Given the description of an element on the screen output the (x, y) to click on. 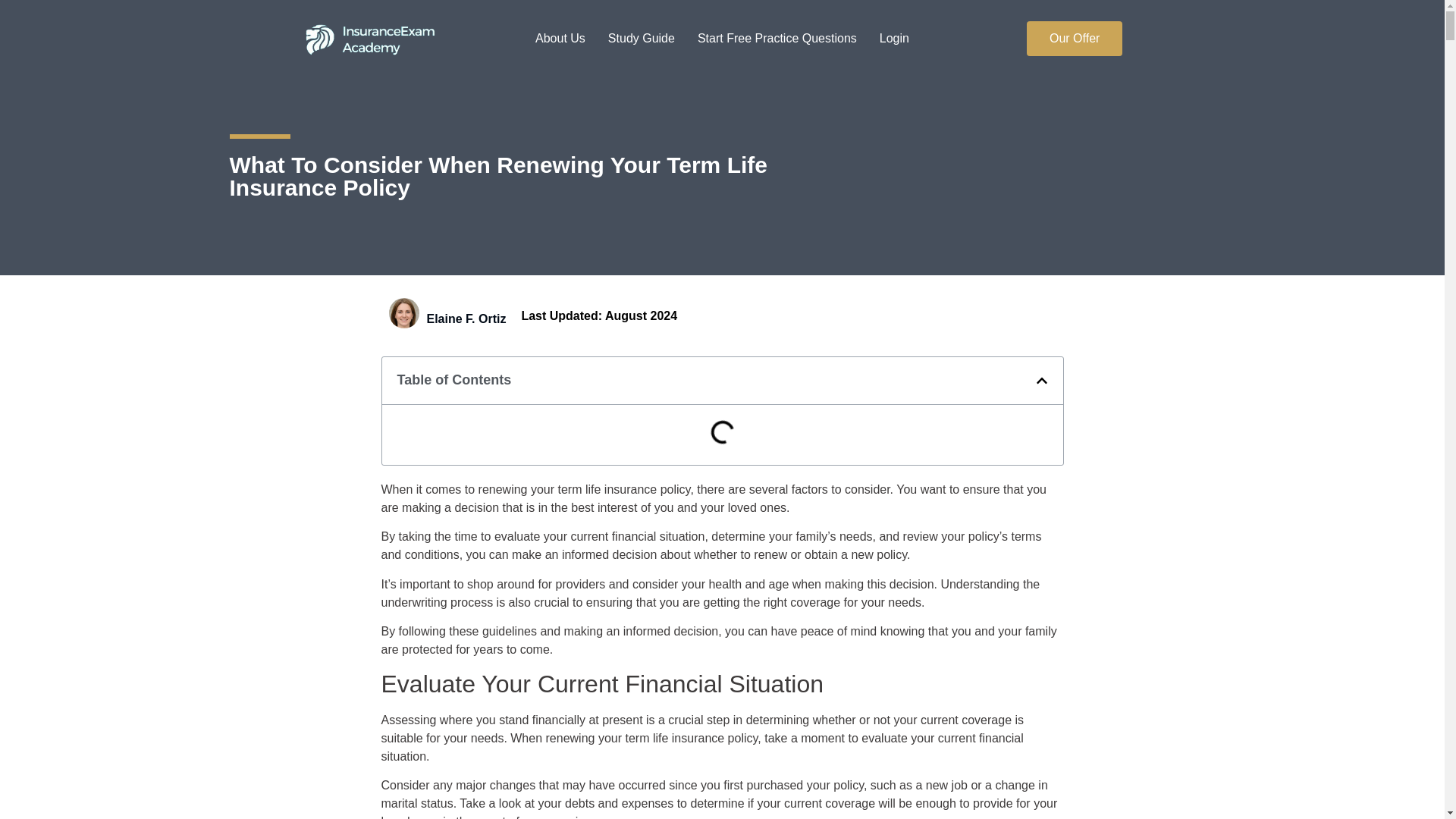
Study Guide (641, 17)
About Us (560, 9)
Our Offer (1074, 38)
Login (893, 34)
Start Free Practice Questions (777, 34)
